Given the description of an element on the screen output the (x, y) to click on. 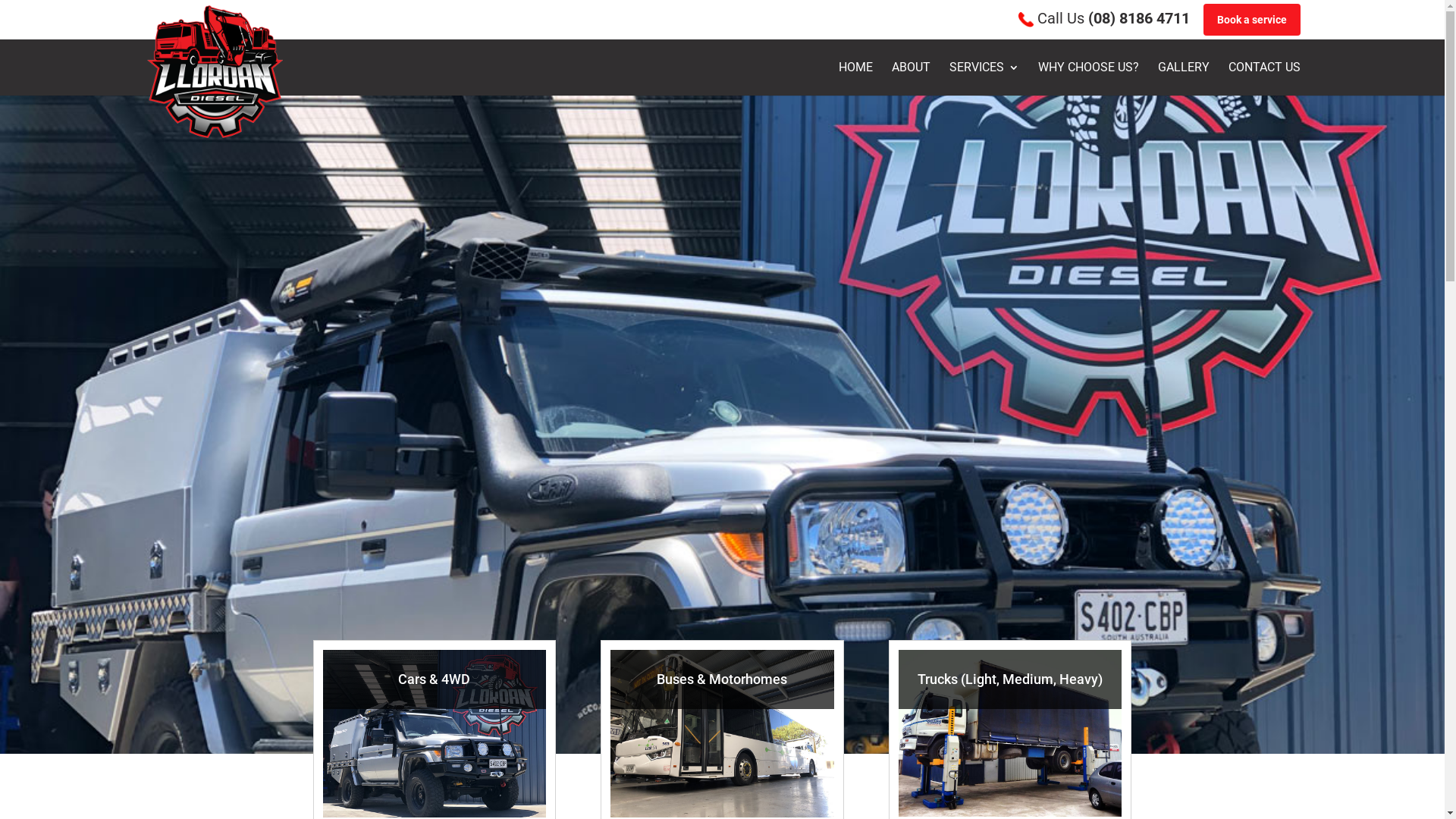
Book a service Element type: text (1250, 19)
Call Us (08) 8186 4711 Element type: text (1103, 17)
SERVICES Element type: text (984, 78)
HOME Element type: text (855, 78)
CONTACT US Element type: text (1264, 78)
ABOUT Element type: text (910, 78)
WHY CHOOSE US? Element type: text (1087, 78)
GALLERY Element type: text (1182, 78)
